Given the description of an element on the screen output the (x, y) to click on. 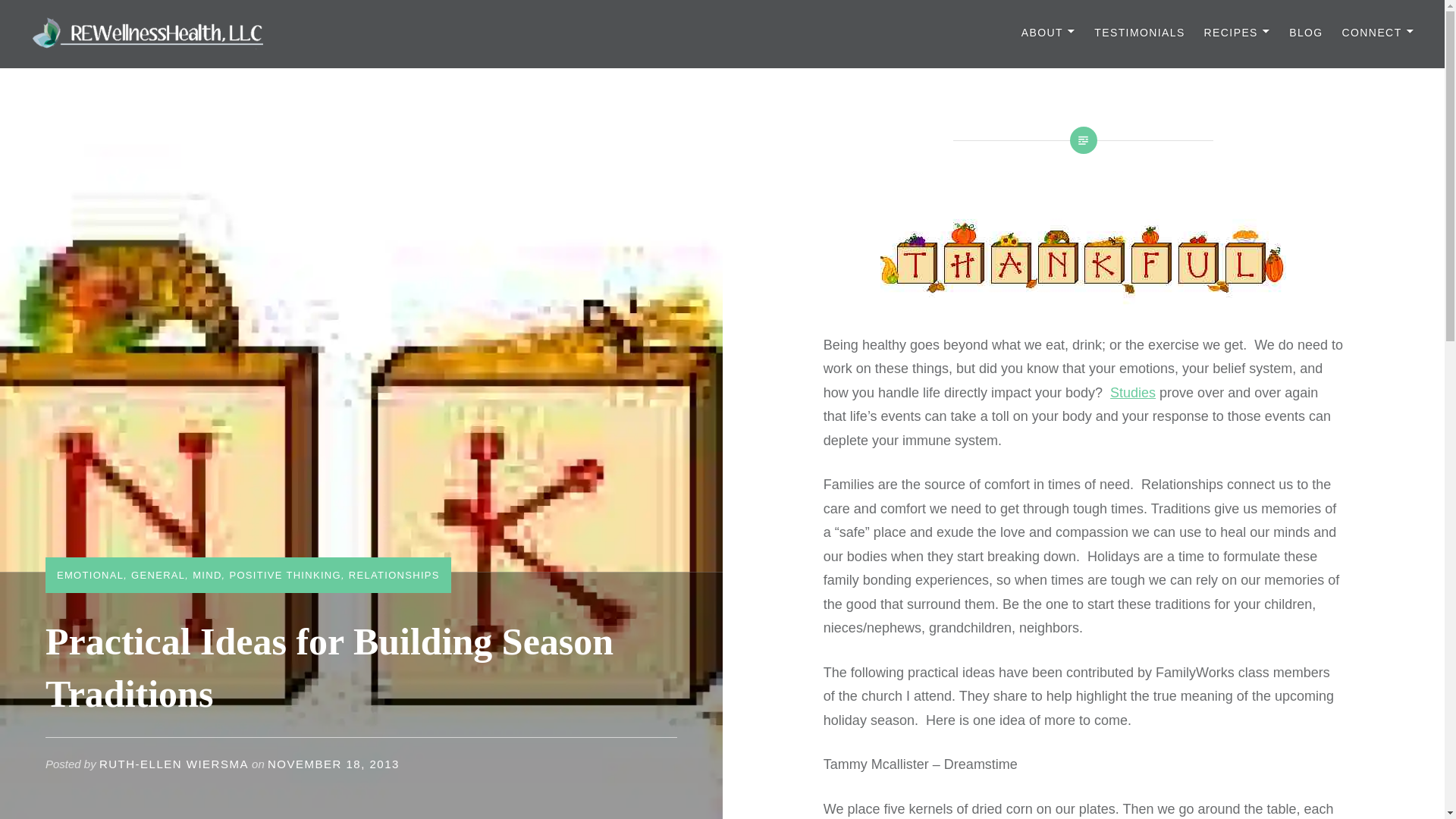
GO (608, 18)
MIND (206, 574)
RELATIONSHIPS (394, 574)
BLOG (1305, 32)
Studies (1132, 392)
TESTIMONIALS (1139, 32)
Search (284, 19)
CONNECT (1377, 32)
NOVEMBER 18, 2013 (332, 763)
EMOTIONAL (89, 574)
GENERAL (157, 574)
GO (608, 18)
RUTH-ELLEN WIERSMA (173, 763)
RECIPES (1237, 32)
ABOUT (1048, 32)
